Given the description of an element on the screen output the (x, y) to click on. 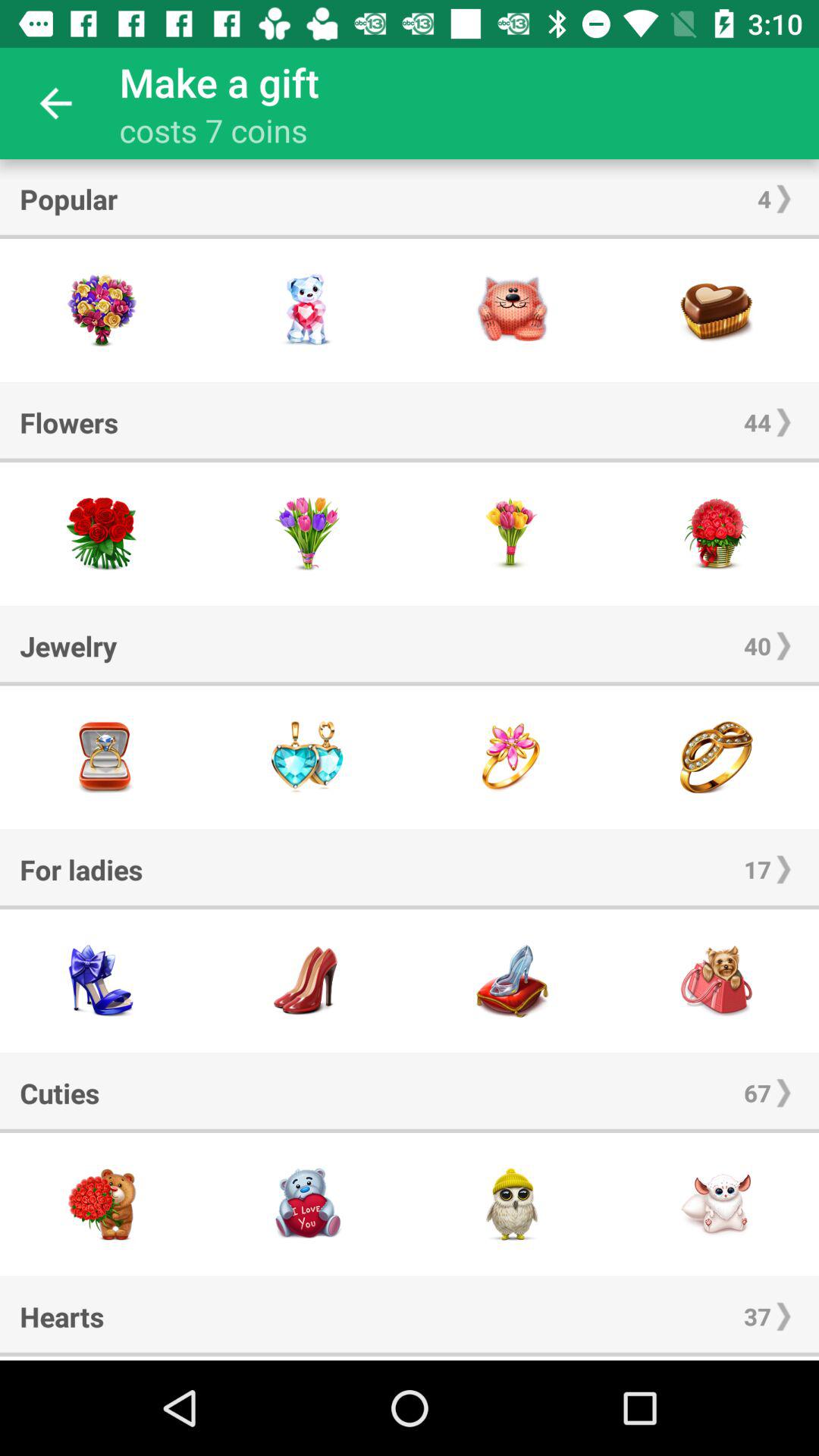
gift (102, 757)
